Given the description of an element on the screen output the (x, y) to click on. 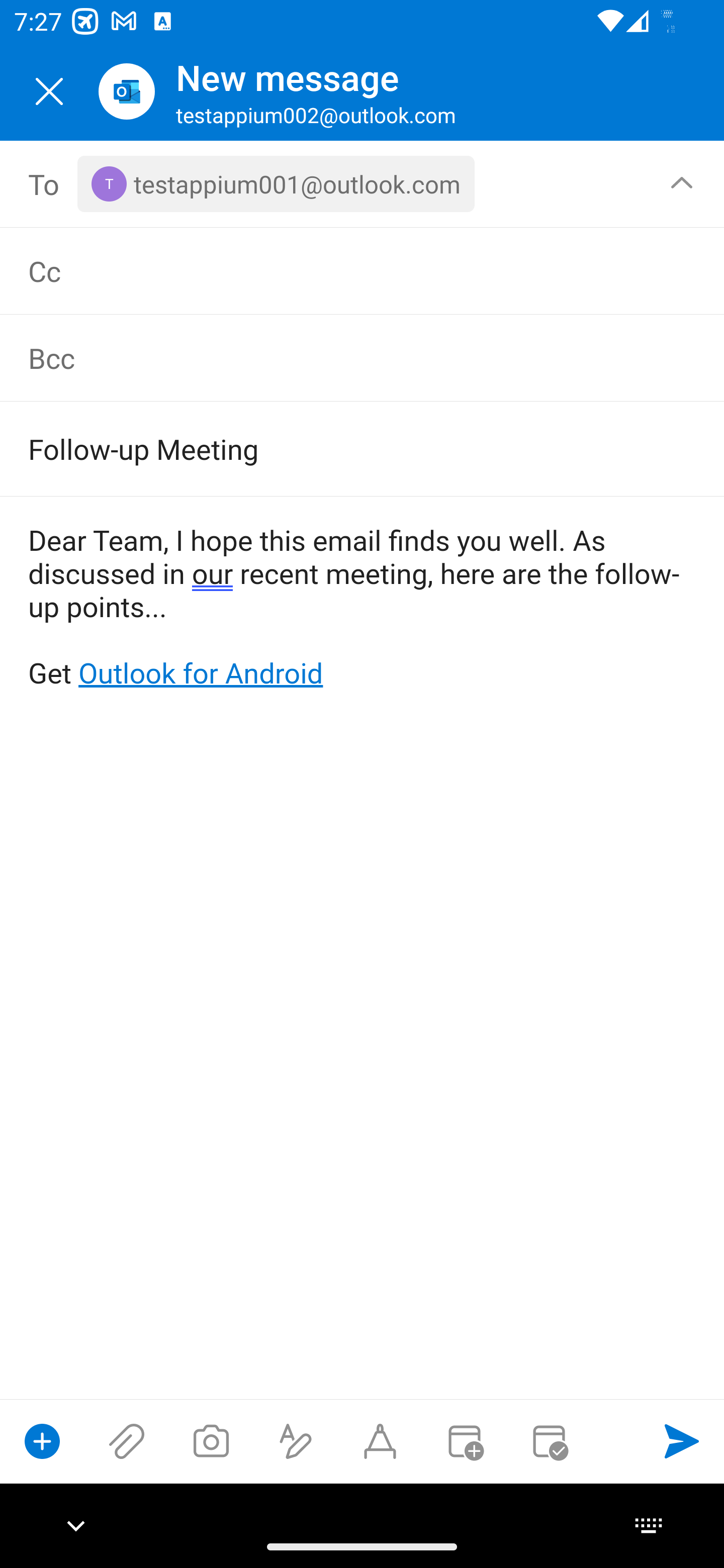
Close (49, 91)
To, 1 recipient <testappium001@outlook.com> (362, 184)
Follow-up Meeting (333, 448)
Show compose options (42, 1440)
Attach files (126, 1440)
Take a photo (210, 1440)
Show formatting options (295, 1440)
Start Ink compose (380, 1440)
Convert to event (464, 1440)
Send availability (548, 1440)
Send (681, 1440)
